Given the description of an element on the screen output the (x, y) to click on. 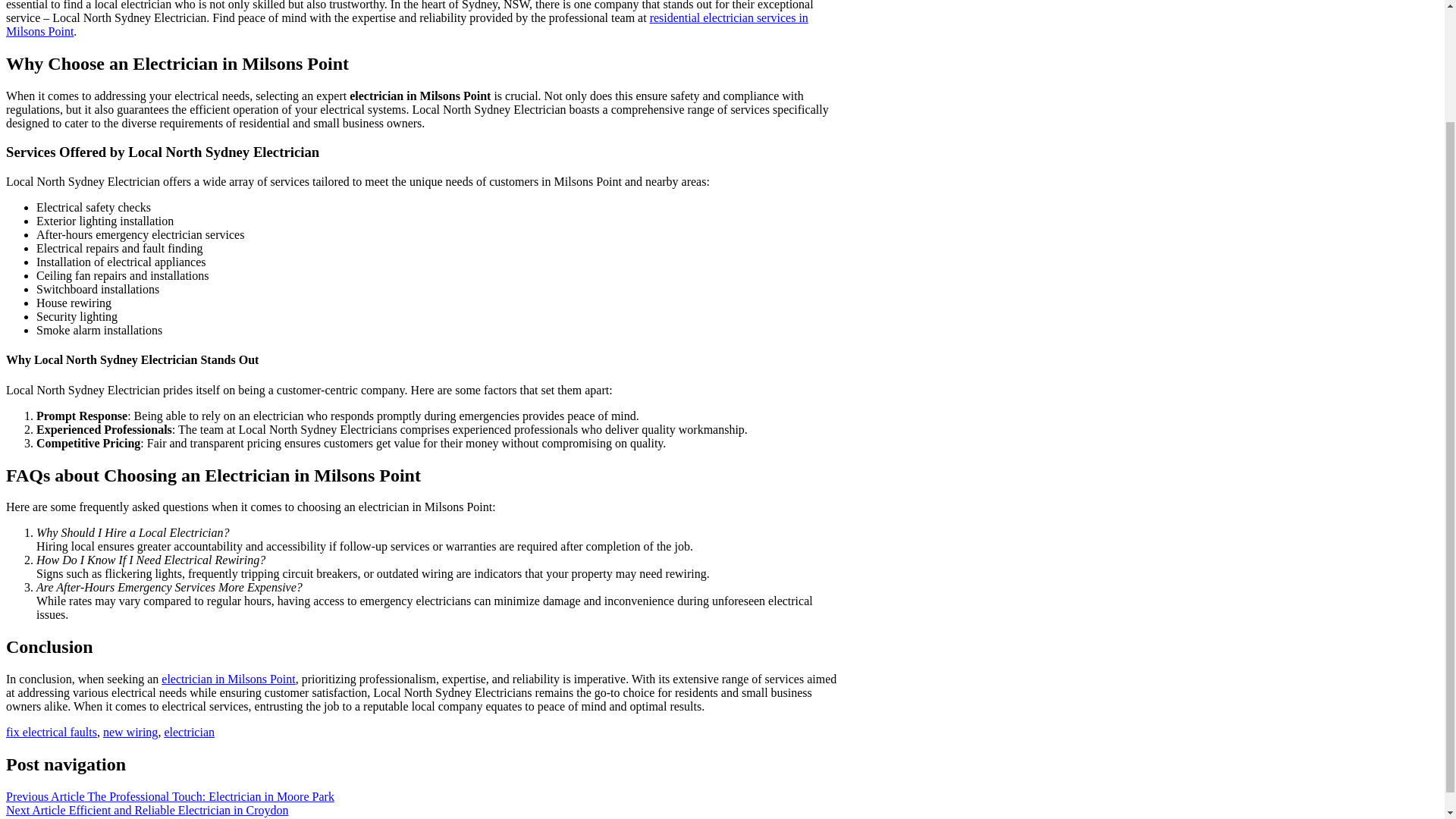
Next Article Efficient and Reliable Electrician in Croydon (146, 809)
residential electrician services in Milsons Point (406, 24)
fix electrical faults (51, 731)
electrician in Milsons Point (228, 678)
electrician (188, 731)
new wiring (130, 731)
